Given the description of an element on the screen output the (x, y) to click on. 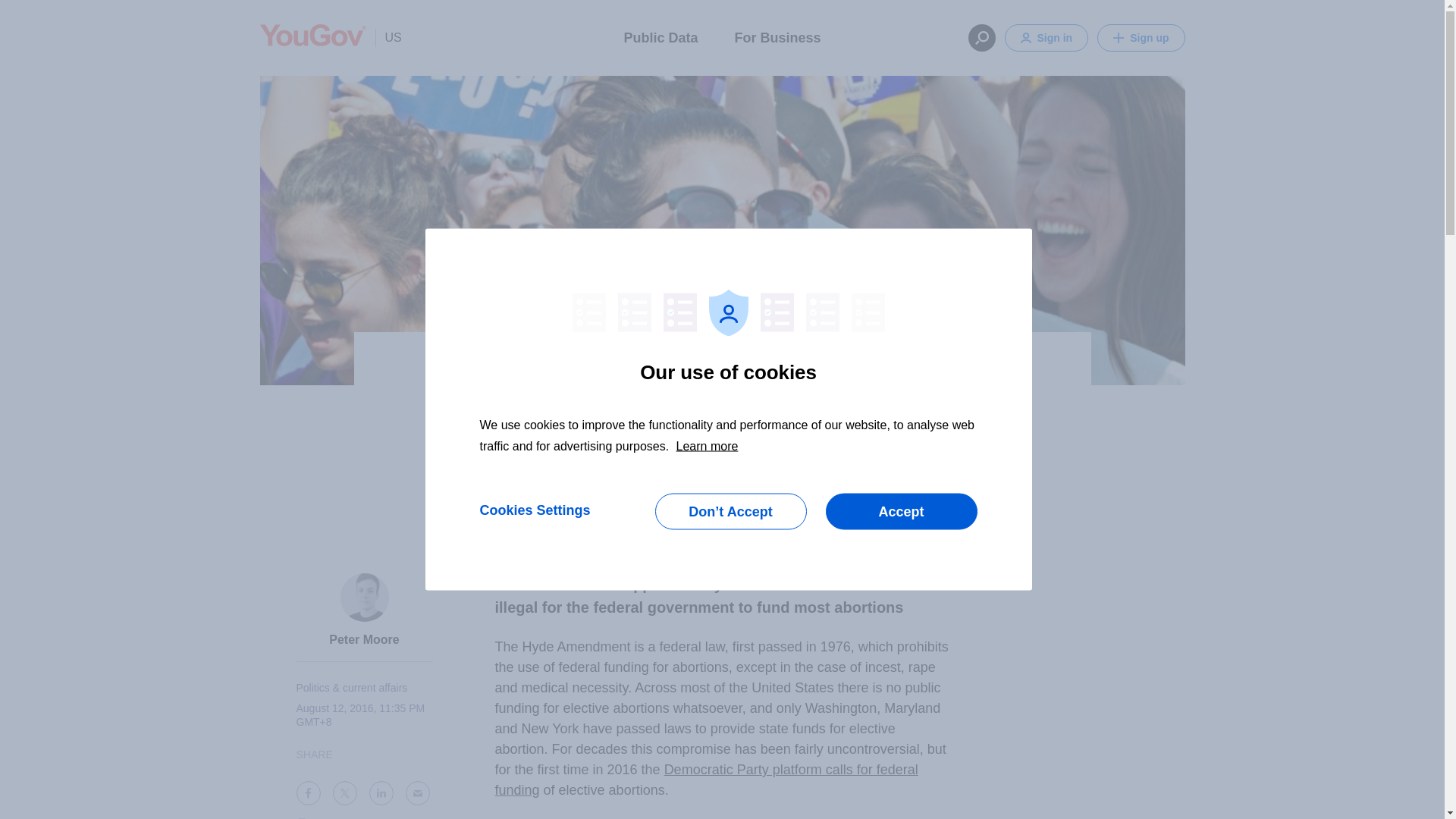
Sign in (1045, 37)
For Business (777, 37)
Sign up (1141, 37)
US (387, 37)
Public Data (660, 37)
